Given the description of an element on the screen output the (x, y) to click on. 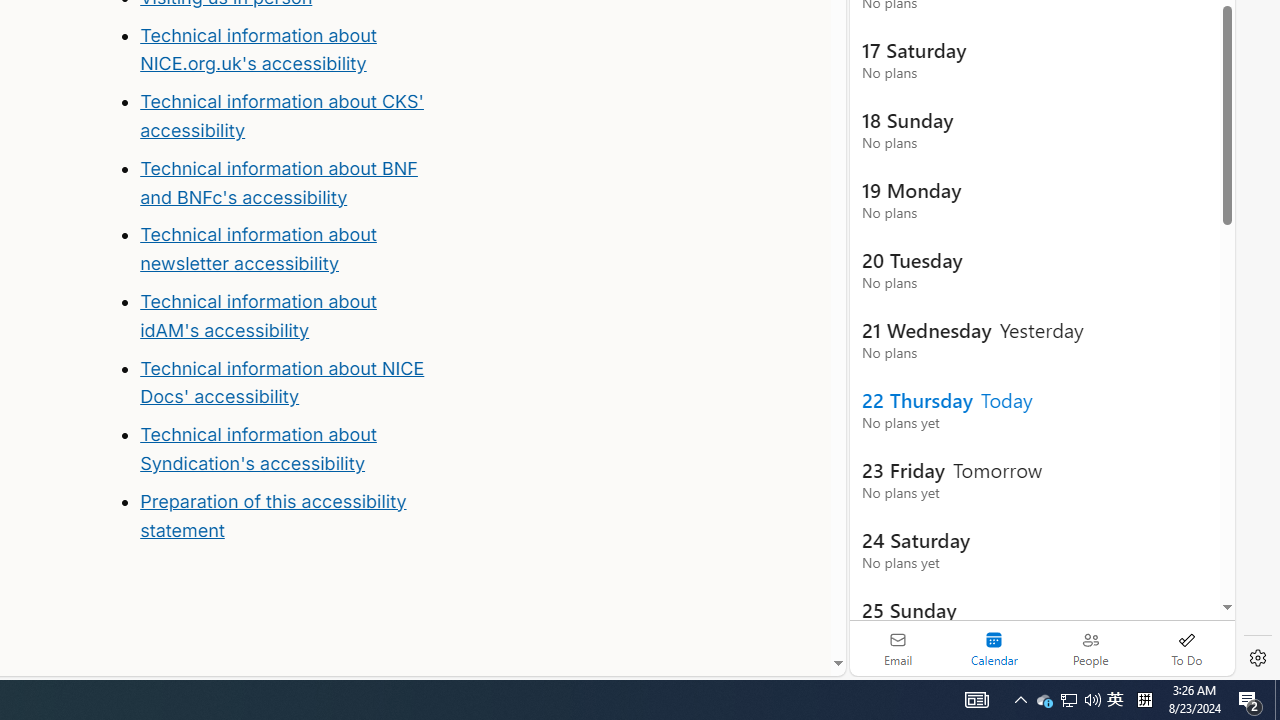
Technical information about newsletter accessibility (258, 249)
Technical information about Syndication's accessibility (258, 448)
Preparation of this accessibility statement (273, 515)
Technical information about CKS' accessibility (281, 115)
